Given the description of an element on the screen output the (x, y) to click on. 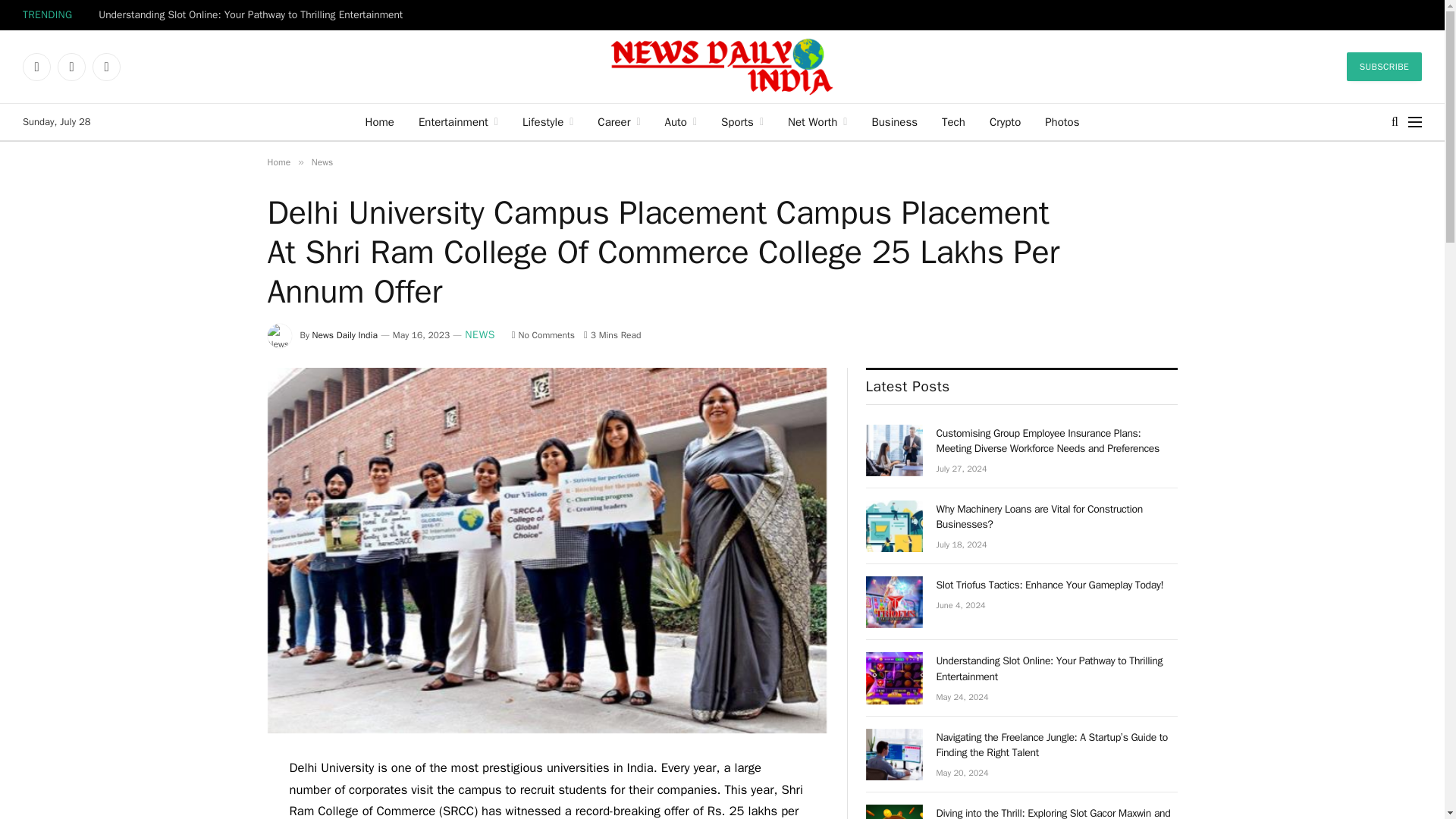
Career (618, 122)
Entertainment (458, 122)
Twitter (71, 67)
Posts by News Daily India (345, 335)
Facebook (36, 67)
Lifestyle (548, 122)
News Daily India (722, 66)
Home (379, 122)
Instagram (106, 67)
SUBSCRIBE (1384, 66)
